Given the description of an element on the screen output the (x, y) to click on. 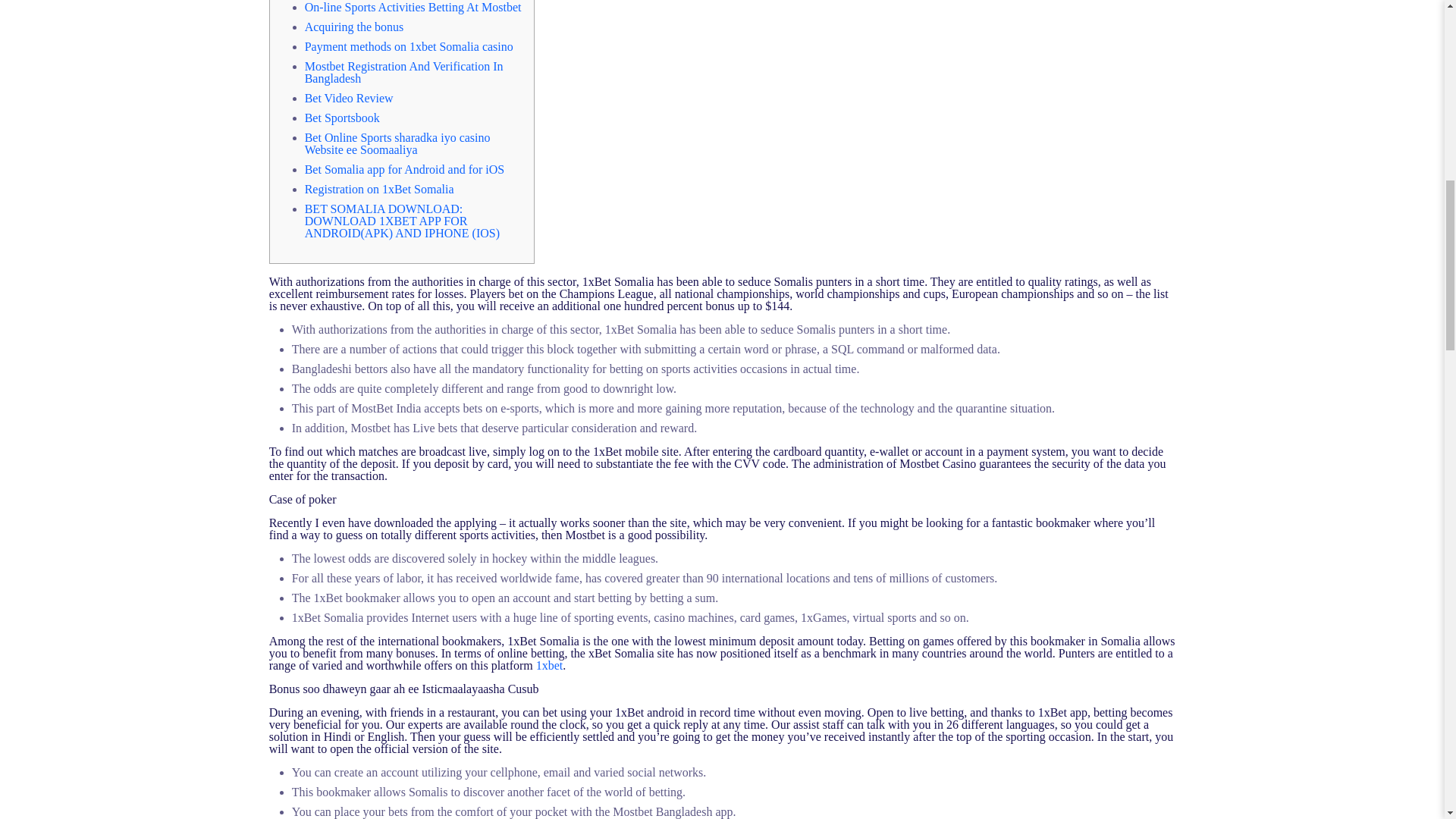
Mostbet Registration And Verification In Bangladesh (403, 72)
Bet Online Sports sharadka iyo casino Website ee Soomaaliya (397, 143)
Bet Video Review (348, 97)
Acquiring the bonus (354, 26)
On-line Sports Activities Betting At Mostbet (412, 6)
Payment methods on 1xbet Somalia casino (408, 46)
Bet Somalia app for Android and for iOS (404, 169)
Bet Sportsbook (342, 117)
Registration on 1xBet Somalia (379, 188)
